Given the description of an element on the screen output the (x, y) to click on. 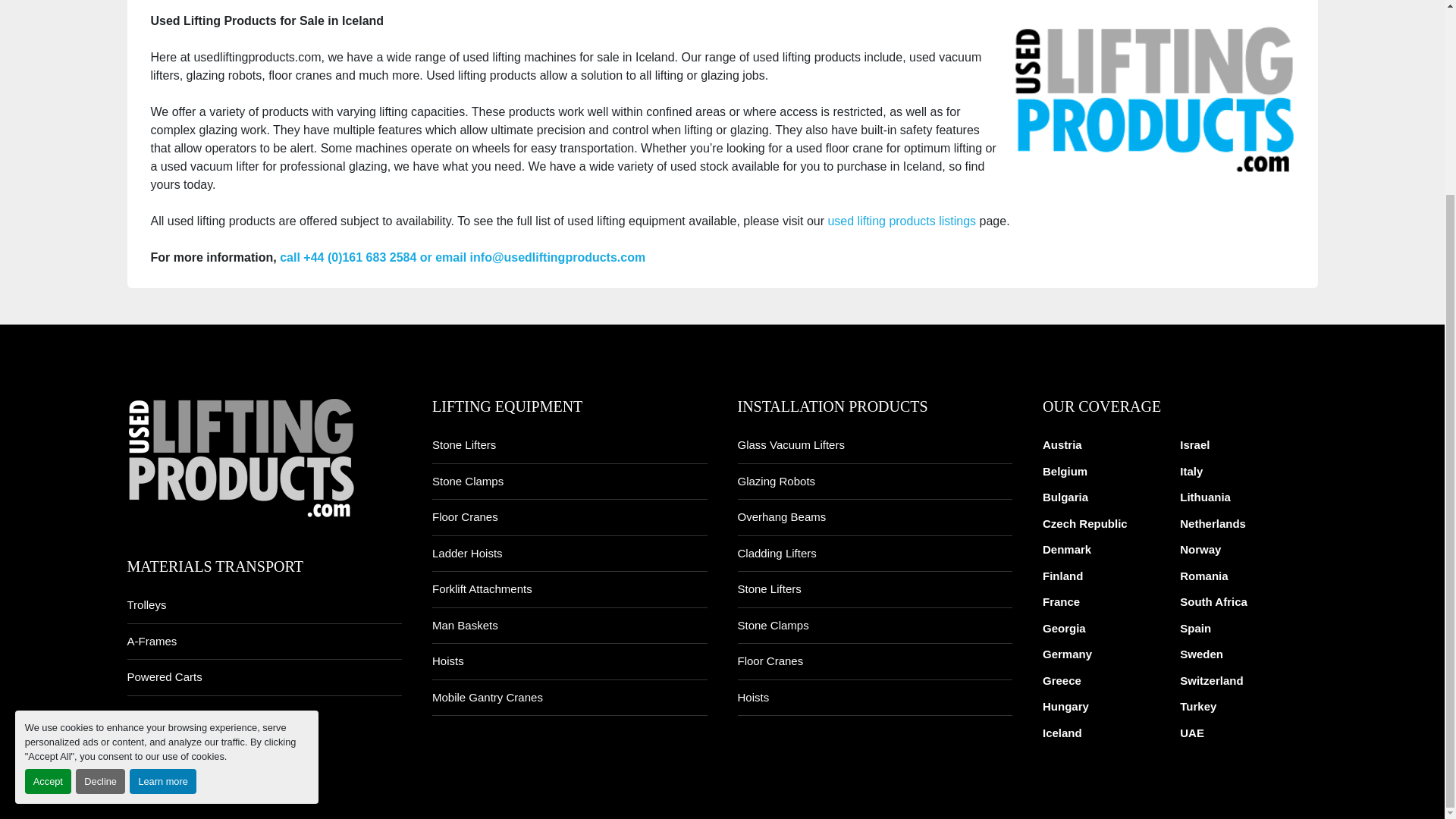
Decline (100, 535)
Accept (47, 535)
Powered Carts (165, 676)
used lifting products listings (901, 220)
Accept cookies (47, 535)
A-Frames (152, 640)
Trolleys (147, 604)
Stone Clamps (467, 481)
Stone Lifters (464, 444)
Learn more (162, 535)
